Given the description of an element on the screen output the (x, y) to click on. 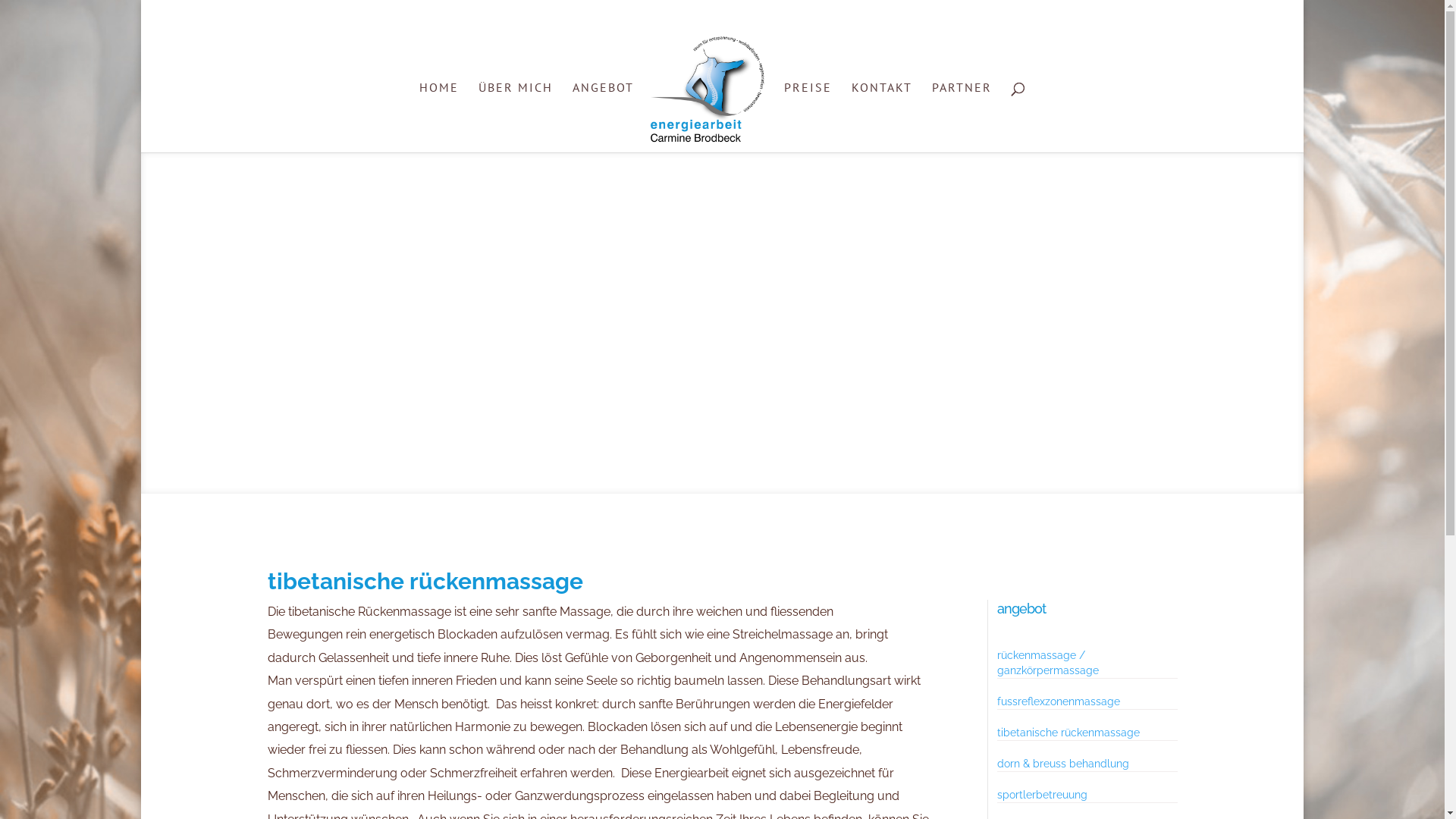
PREISE Element type: text (807, 116)
ANGEBOT Element type: text (602, 116)
HOME Element type: text (438, 116)
PARTNER Element type: text (961, 116)
dorn & breuss behandlung Element type: text (1063, 763)
KONTAKT Element type: text (881, 116)
sportlerbetreuung Element type: text (1042, 794)
fussreflexzonenmassage Element type: text (1058, 701)
